Given the description of an element on the screen output the (x, y) to click on. 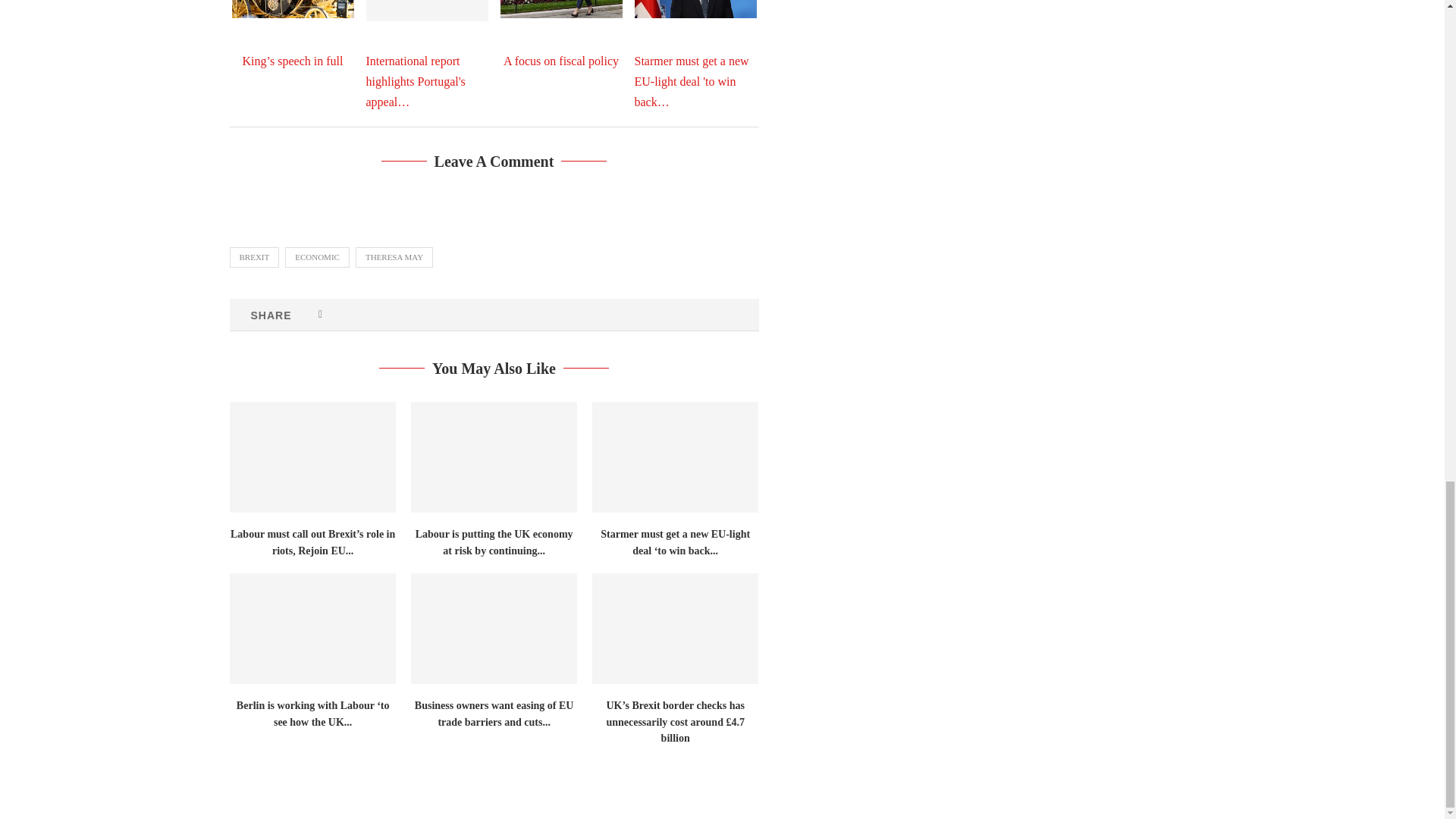
A focus on fiscal policy (561, 9)
